Given the description of an element on the screen output the (x, y) to click on. 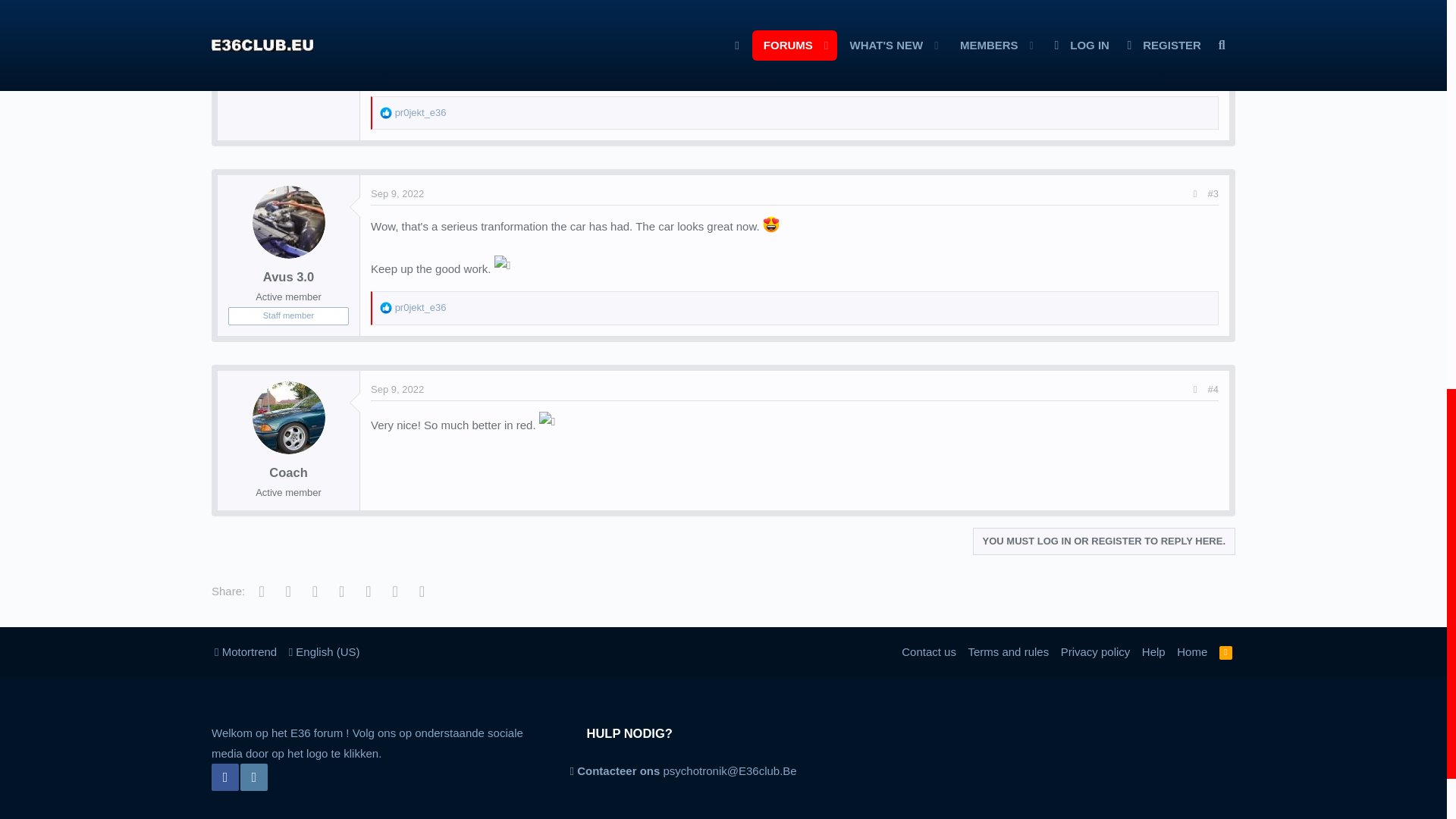
Sep 9, 2022 at 11:26 AM (397, 193)
Love    :love: (770, 224)
Like (385, 112)
